Given the description of an element on the screen output the (x, y) to click on. 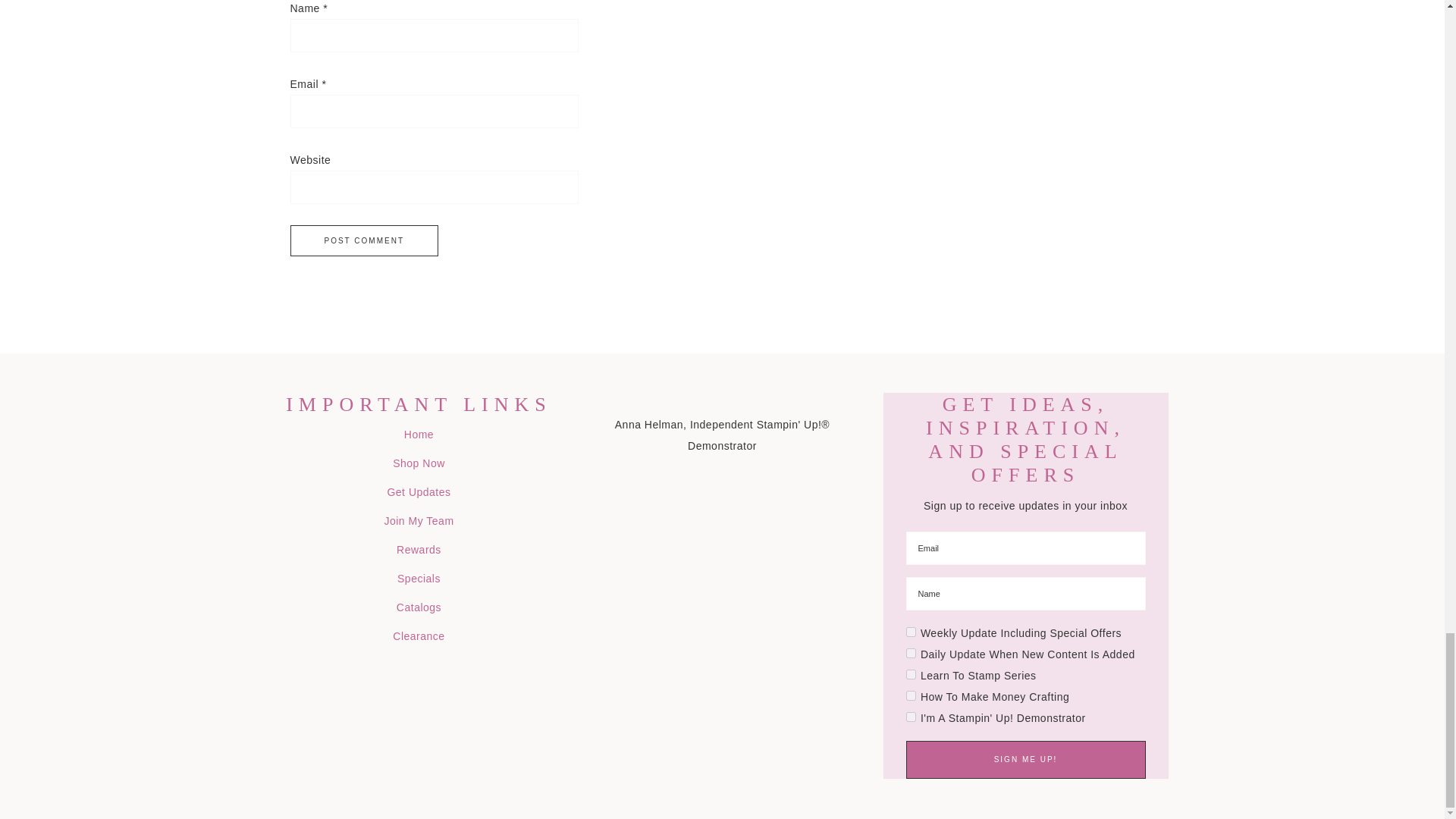
107453452 (910, 674)
112576372 (910, 716)
107453443 (910, 653)
Post Comment (363, 240)
107453446 (910, 632)
107453458 (910, 696)
